Given the description of an element on the screen output the (x, y) to click on. 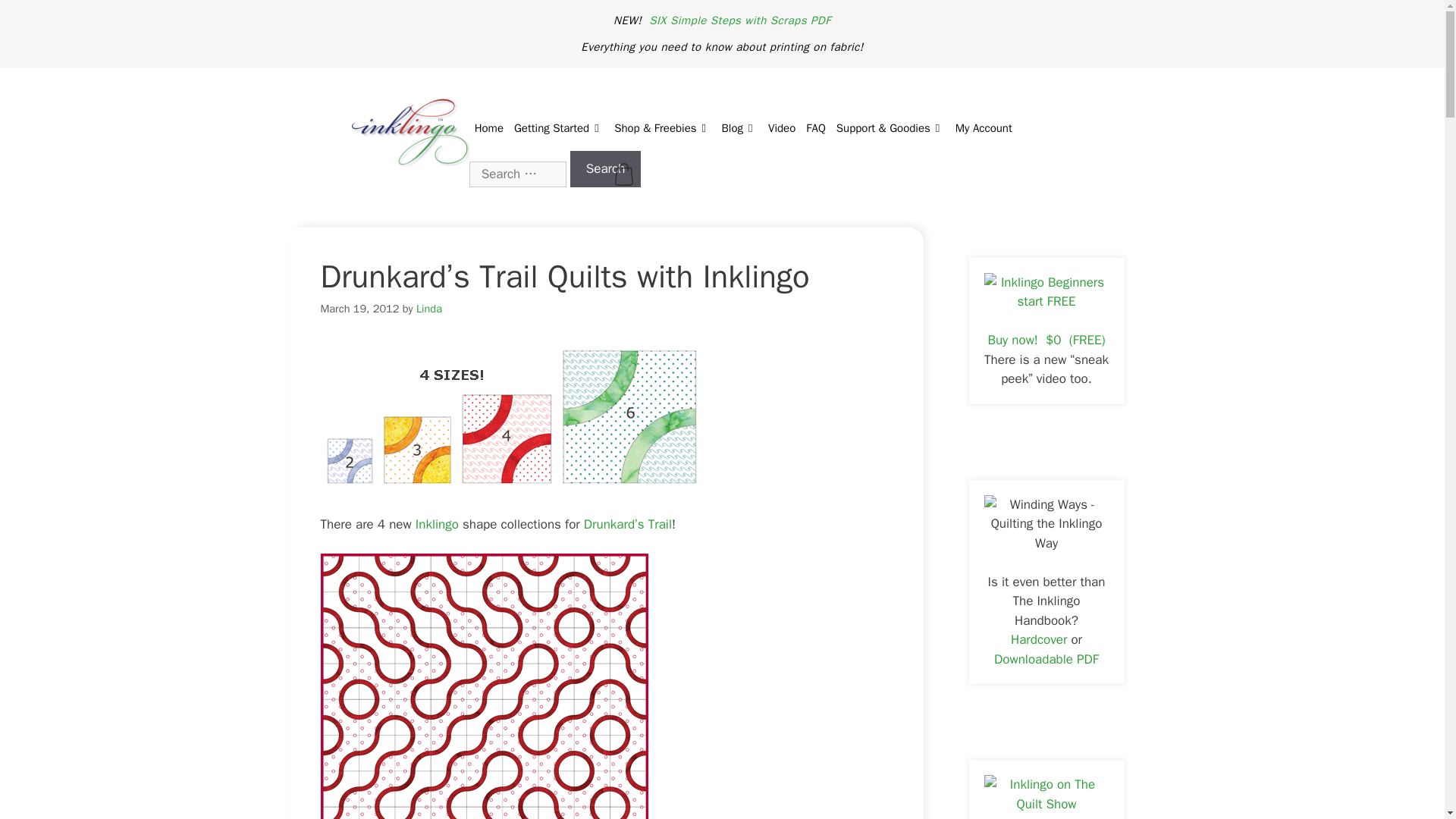
Search for: (517, 173)
View all posts by Linda (429, 308)
Getting Started (558, 127)
Drunkard's Trail  (483, 686)
Inkligo (436, 524)
Search (606, 168)
Drunkard's Trail (625, 524)
Search (606, 168)
SIX Simple Steps with Scraps PDF (740, 20)
4 Inklingo Sizes! (510, 416)
